Given the description of an element on the screen output the (x, y) to click on. 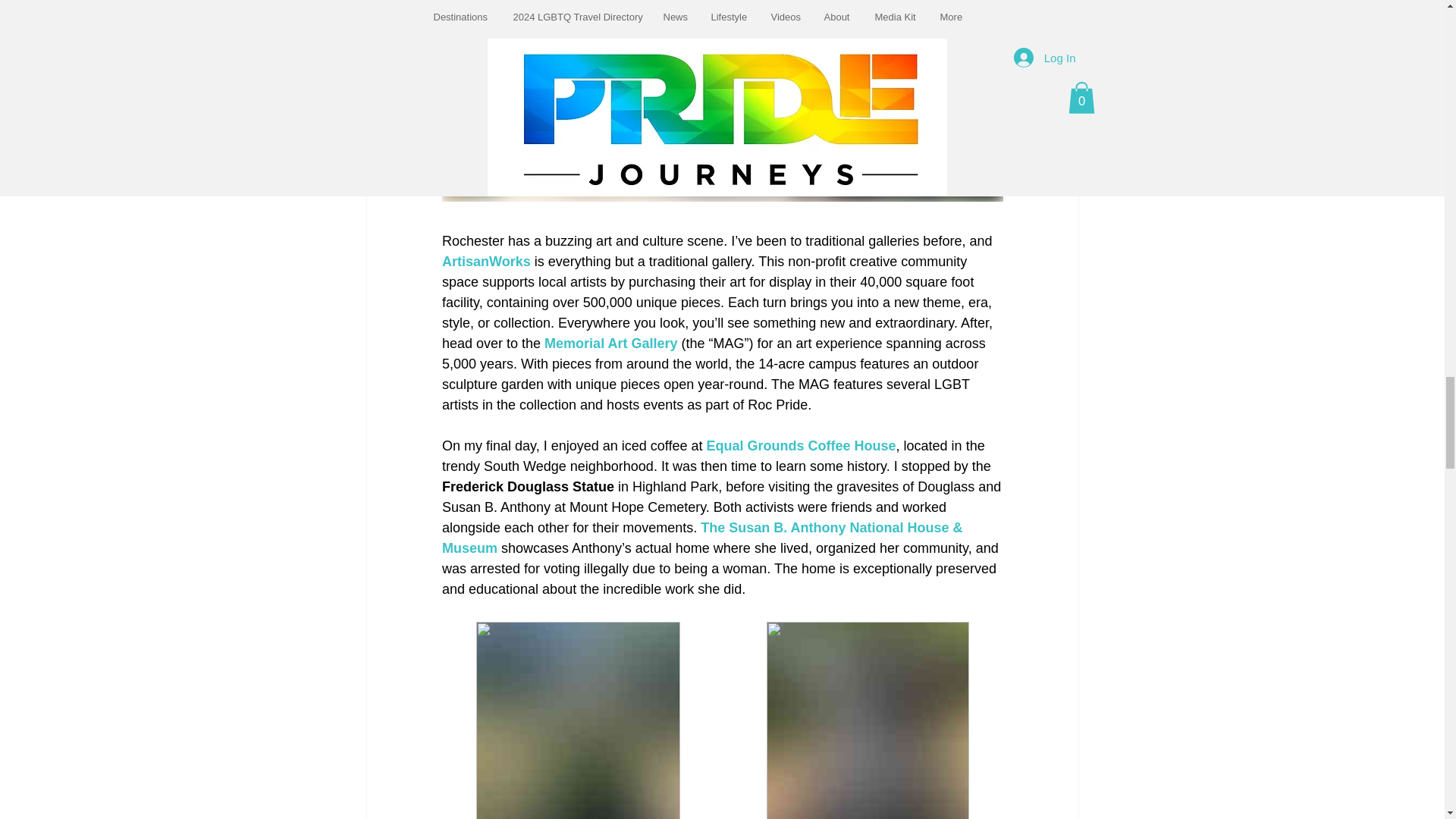
ArtisanWorks (485, 261)
Memorial Art Gallery (610, 343)
Equal Grounds Coffee House (800, 445)
